Given the description of an element on the screen output the (x, y) to click on. 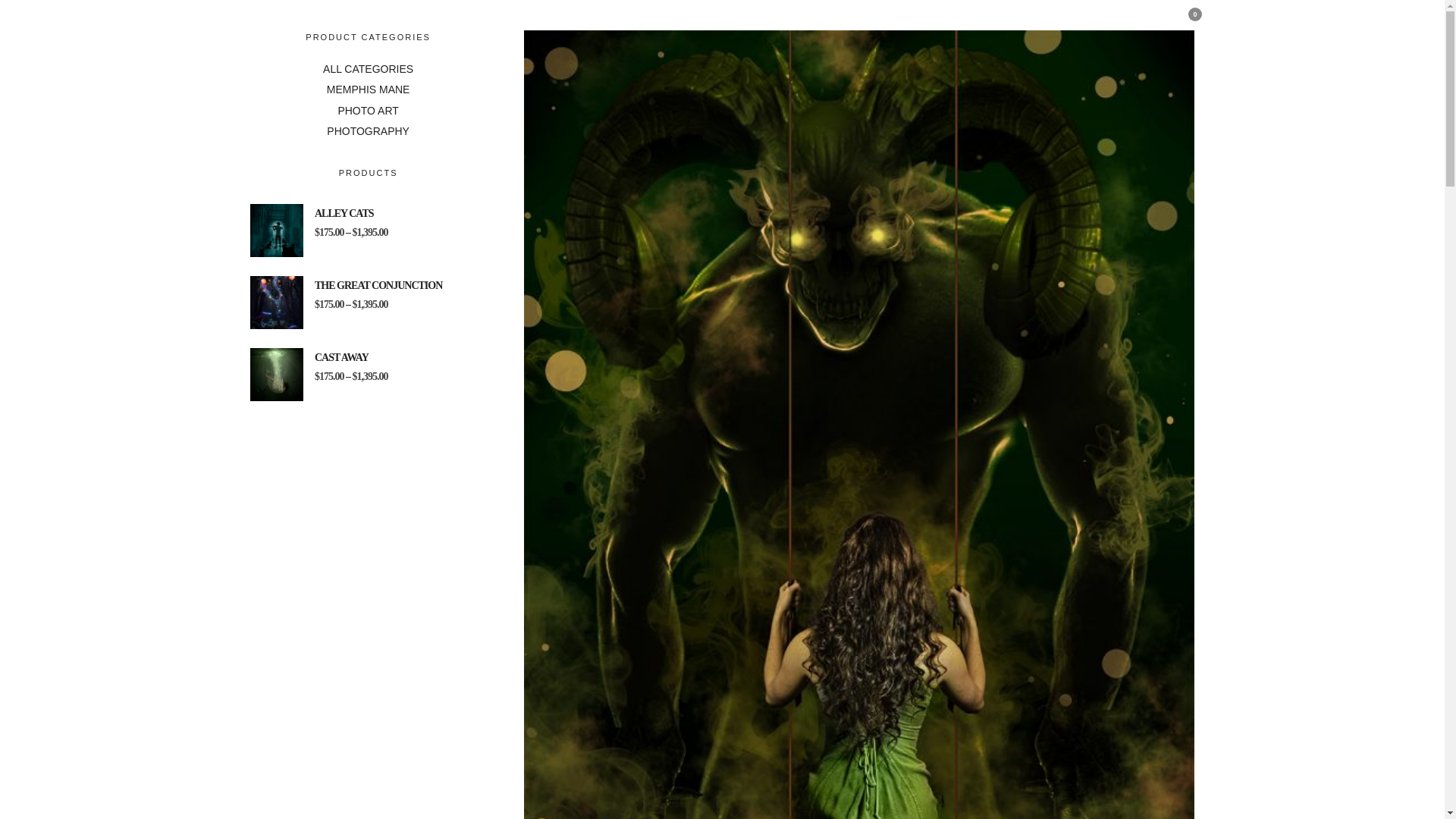
ABOUT ME (814, 23)
CLIENTS (1070, 23)
POSTERS (1000, 23)
PHOTOGRAPHY (909, 23)
CONTACT (1139, 23)
